Given the description of an element on the screen output the (x, y) to click on. 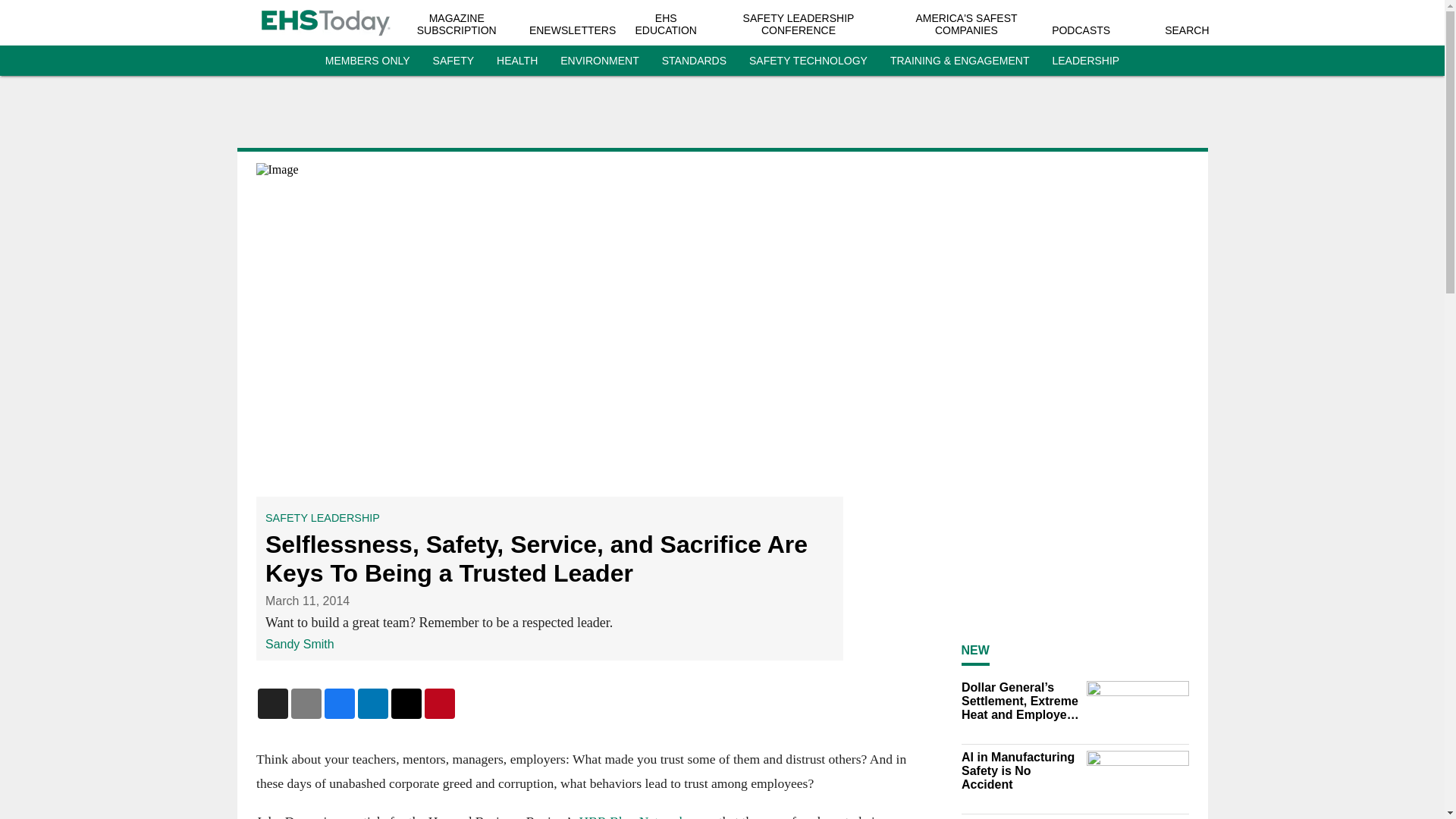
PODCASTS (1080, 30)
SAFETY (453, 60)
ENEWSLETTERS (572, 30)
Sandy Smith (299, 644)
ENVIRONMENT (599, 60)
SAFETY LEADERSHIP CONFERENCE (798, 24)
HBR Blog Network (631, 816)
MAGAZINE SUBSCRIPTION (456, 24)
SEARCH (1186, 30)
LEADERSHIP (1085, 60)
EHS EDUCATION (665, 24)
MEMBERS ONLY (367, 60)
STANDARDS (694, 60)
SAFETY TECHNOLOGY (808, 60)
